Given the description of an element on the screen output the (x, y) to click on. 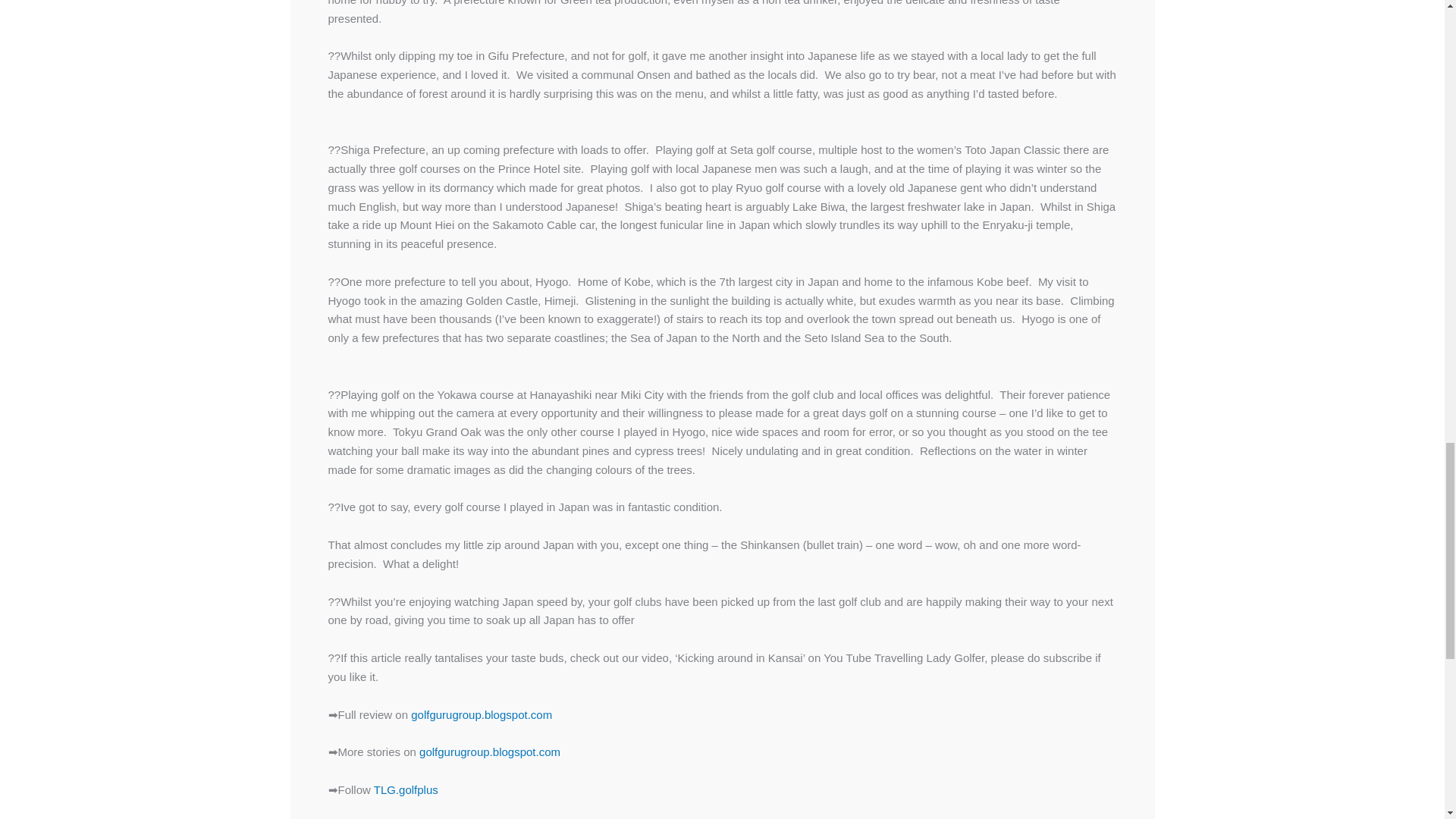
golfgurugroup.blogspot.com (480, 714)
TLG.golfplus (406, 789)
golfgurugroup.blogspot.com (489, 751)
